Given the description of an element on the screen output the (x, y) to click on. 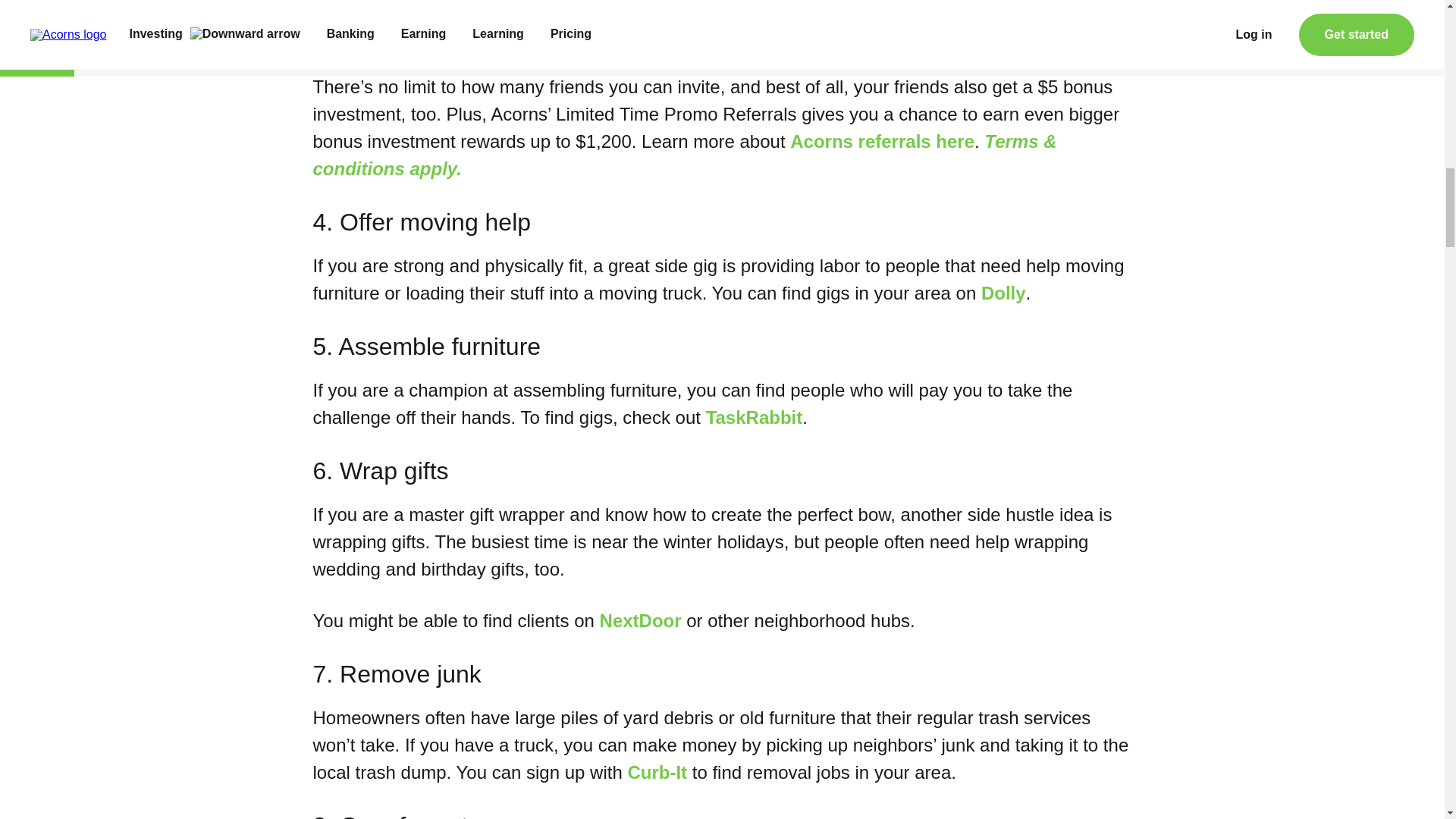
TaskRabbit (754, 417)
Dolly (1003, 292)
Acorns referrals here (882, 141)
NextDoor (640, 620)
